Given the description of an element on the screen output the (x, y) to click on. 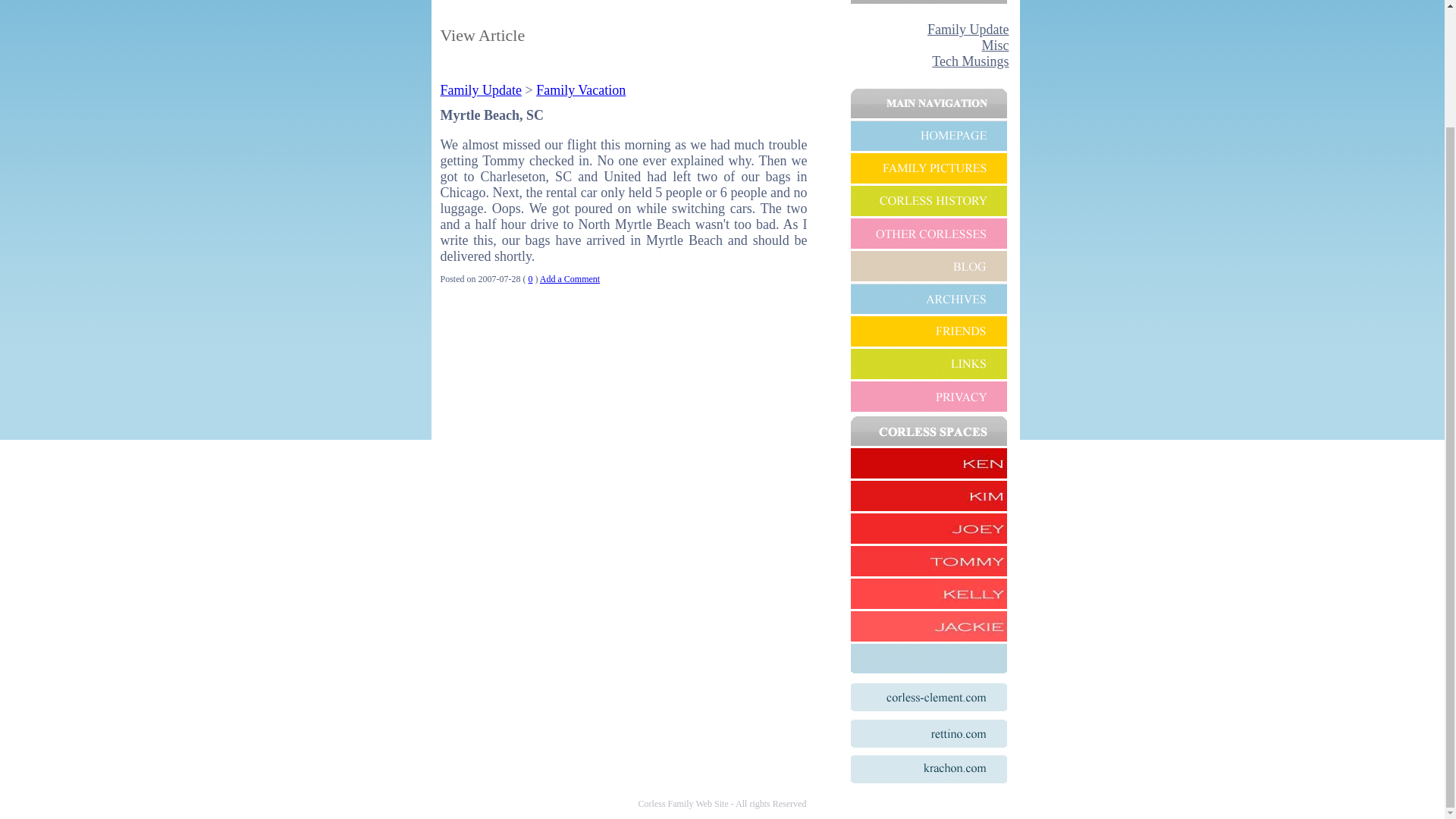
Add a Comment (569, 278)
Tech Musings (970, 61)
Family Vacation (580, 89)
Family Update (480, 89)
Misc (995, 45)
Family Update (968, 29)
